Given the description of an element on the screen output the (x, y) to click on. 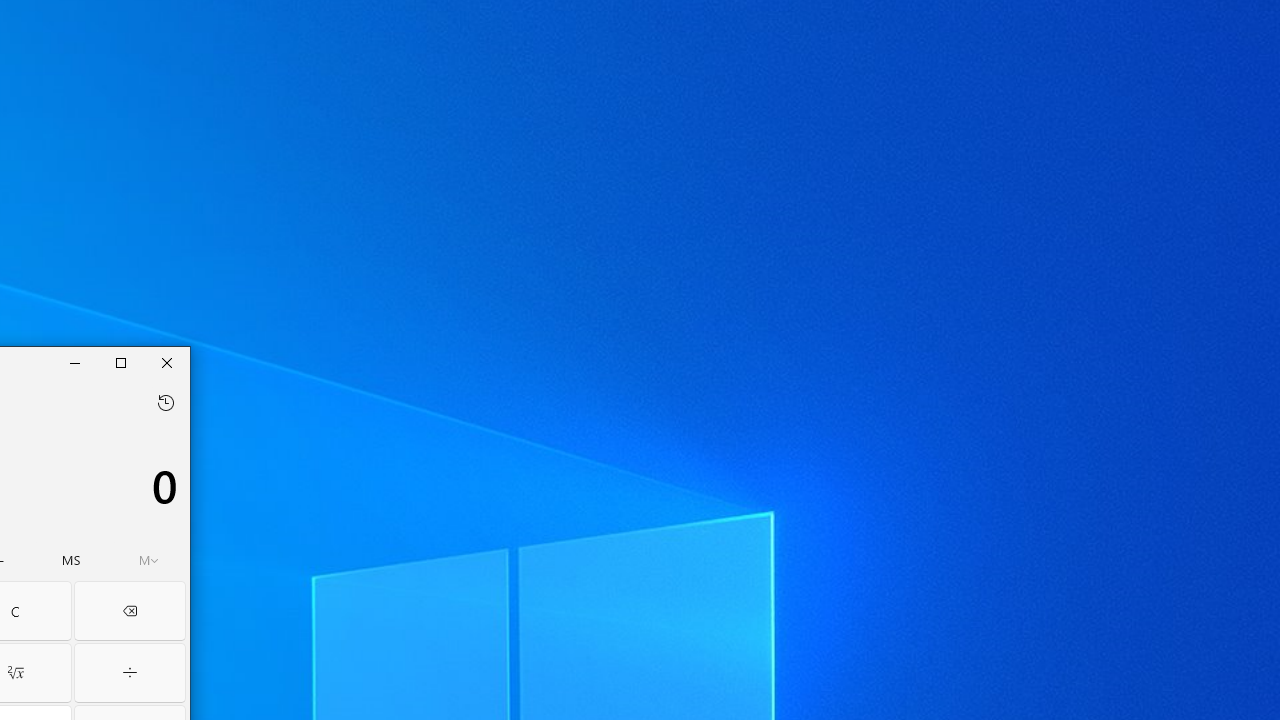
Minimize Calculator (75, 362)
Divide by (129, 672)
Open memory flyout (148, 560)
Memory store (71, 560)
Close Calculator (166, 362)
Backspace (129, 610)
Maximize Calculator (120, 362)
Open history flyout (165, 403)
